Given the description of an element on the screen output the (x, y) to click on. 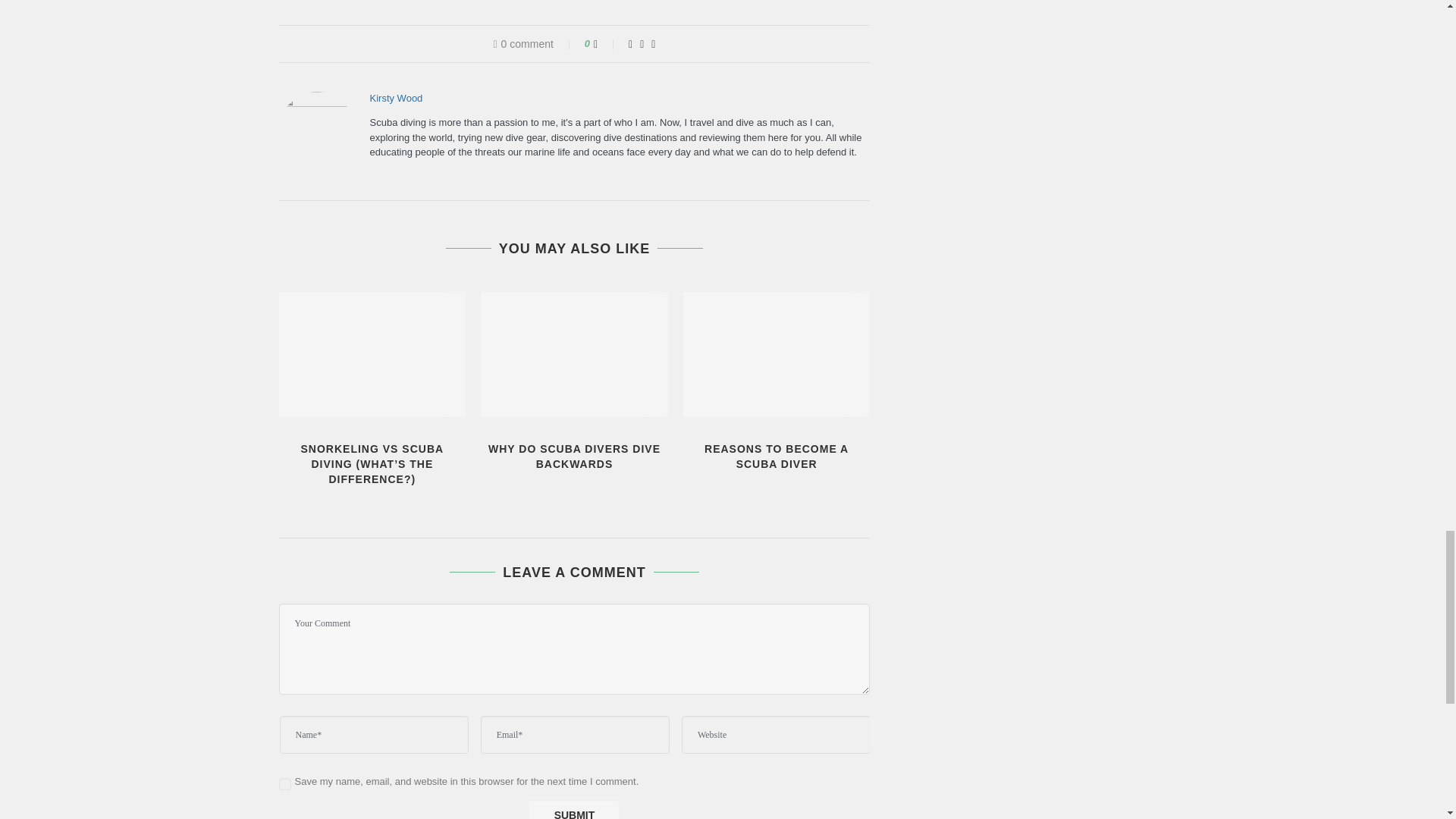
Reasons to Become a Scuba Diver (776, 353)
Like (605, 43)
yes (285, 784)
Submit (574, 809)
Why do Scuba Divers Dive Backwards (574, 353)
Posts by Kirsty Wood (396, 98)
